Given the description of an element on the screen output the (x, y) to click on. 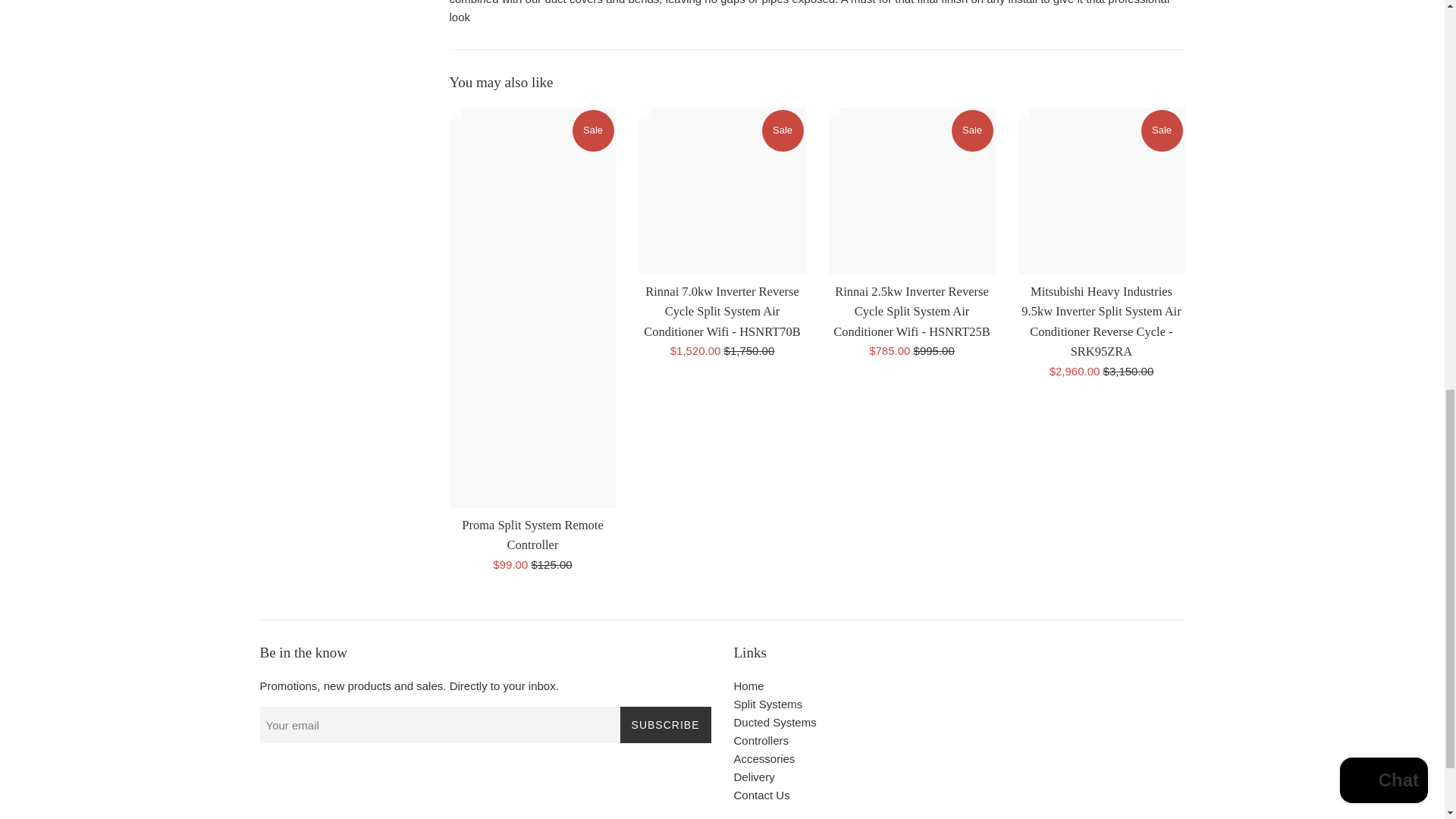
Proma Split System Remote Controller (532, 534)
